Given the description of an element on the screen output the (x, y) to click on. 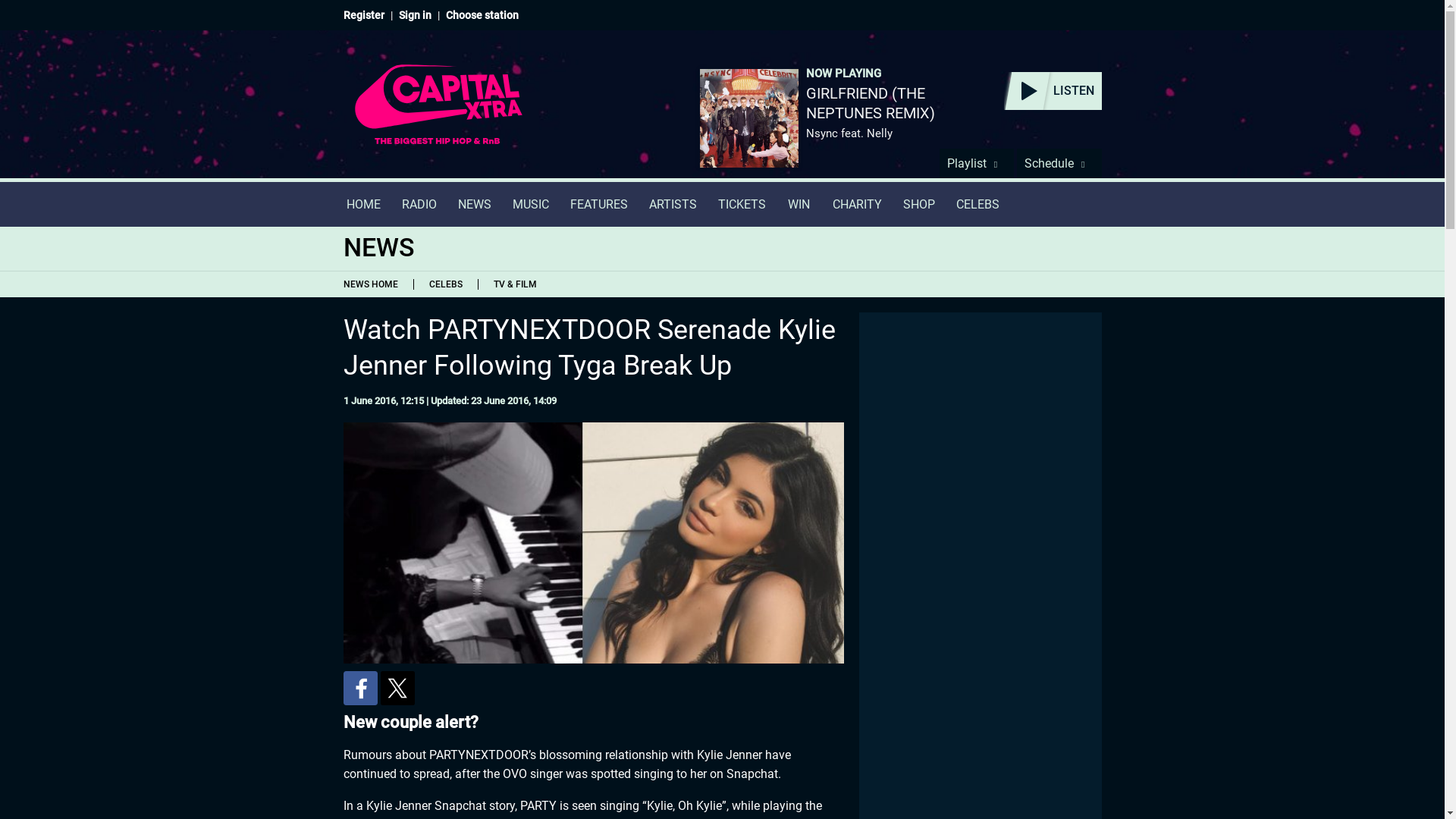
NEWS (474, 203)
Register (363, 15)
CHARITY (857, 203)
WIN (799, 203)
TICKETS (741, 203)
Choose station (481, 15)
RADIO (418, 203)
Sign in (414, 15)
NEWS HOME (373, 284)
CELEBS (976, 203)
Capital XTRA (437, 113)
CELEBS (444, 284)
Schedule (1058, 163)
Playlist (976, 163)
